Given the description of an element on the screen output the (x, y) to click on. 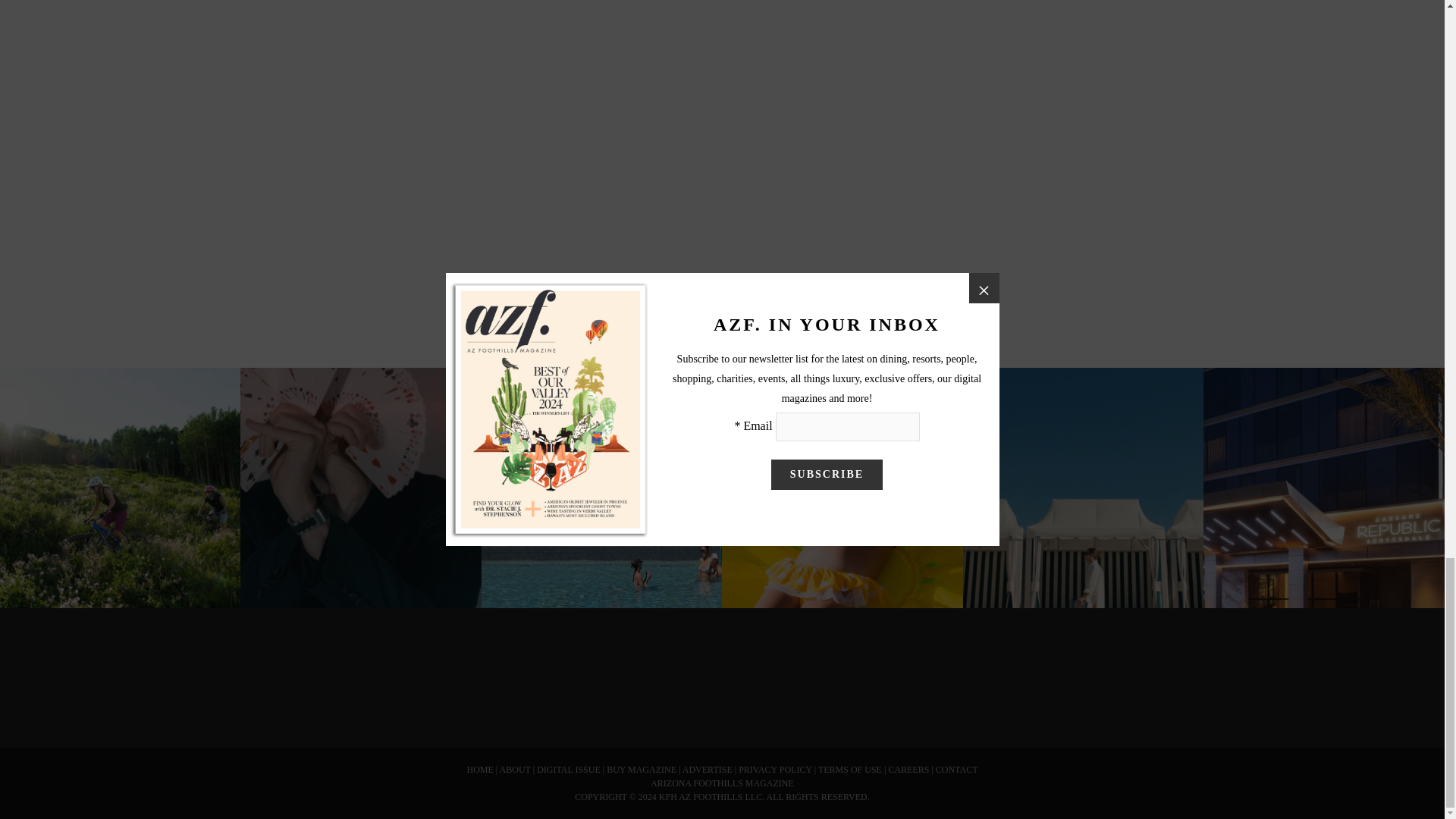
3rd party ad content (721, 668)
3rd party ad content (1017, 668)
3rd party ad content (425, 668)
